Given the description of an element on the screen output the (x, y) to click on. 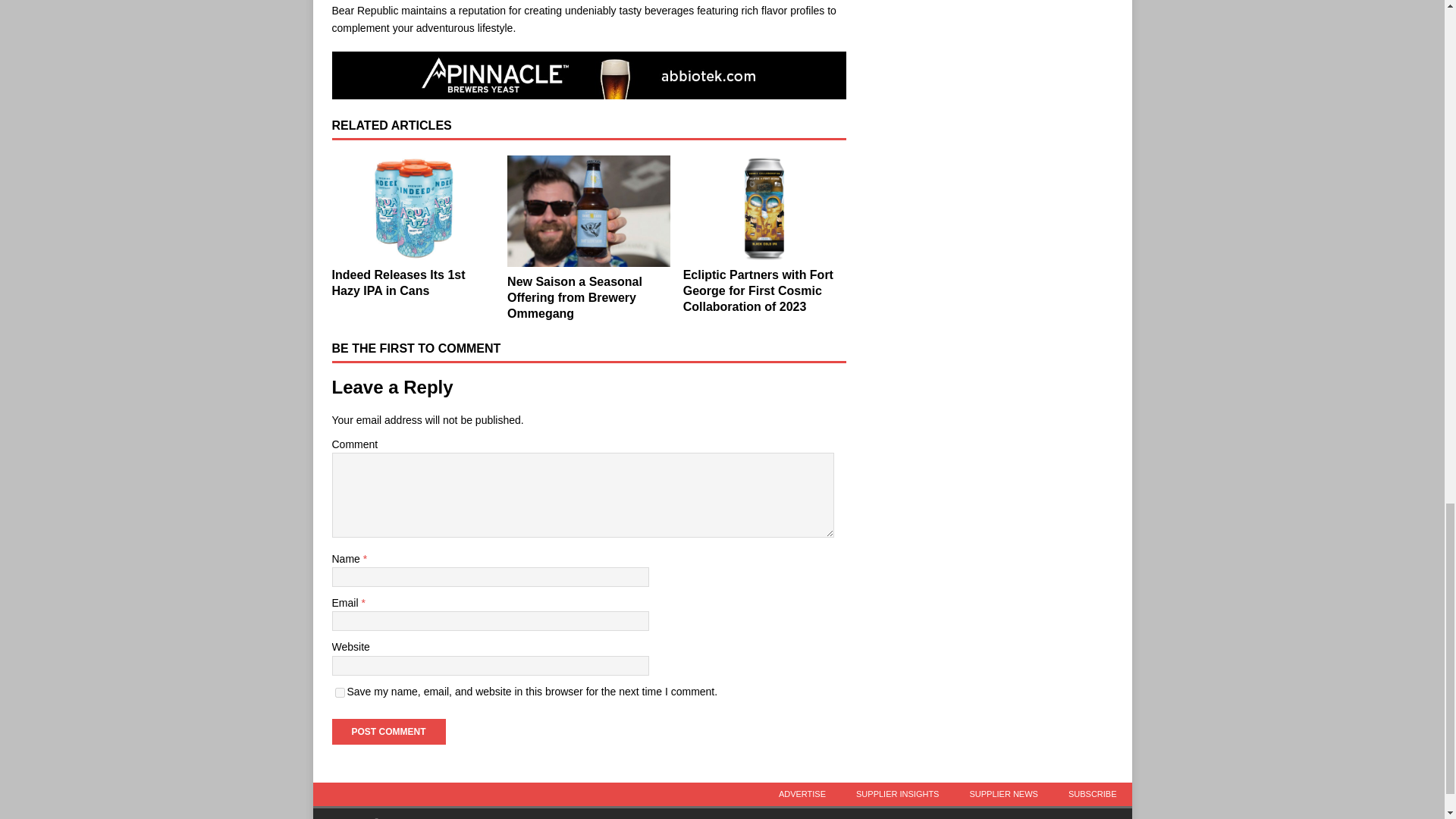
New Saison a Seasonal Offering from Brewery Ommegang (574, 297)
Post Comment (388, 731)
New Saison a Seasonal Offering from Brewery Ommegang (574, 297)
Indeed Releases Its 1st Hazy IPA in Cans (398, 282)
Indeed Releases Its 1st Hazy IPA in Cans (398, 282)
Indeed Releases Its 1st Hazy IPA in Cans (413, 208)
yes (339, 692)
New Saison a Seasonal Offering from Brewery Ommegang (587, 211)
Post Comment (388, 731)
